Given the description of an element on the screen output the (x, y) to click on. 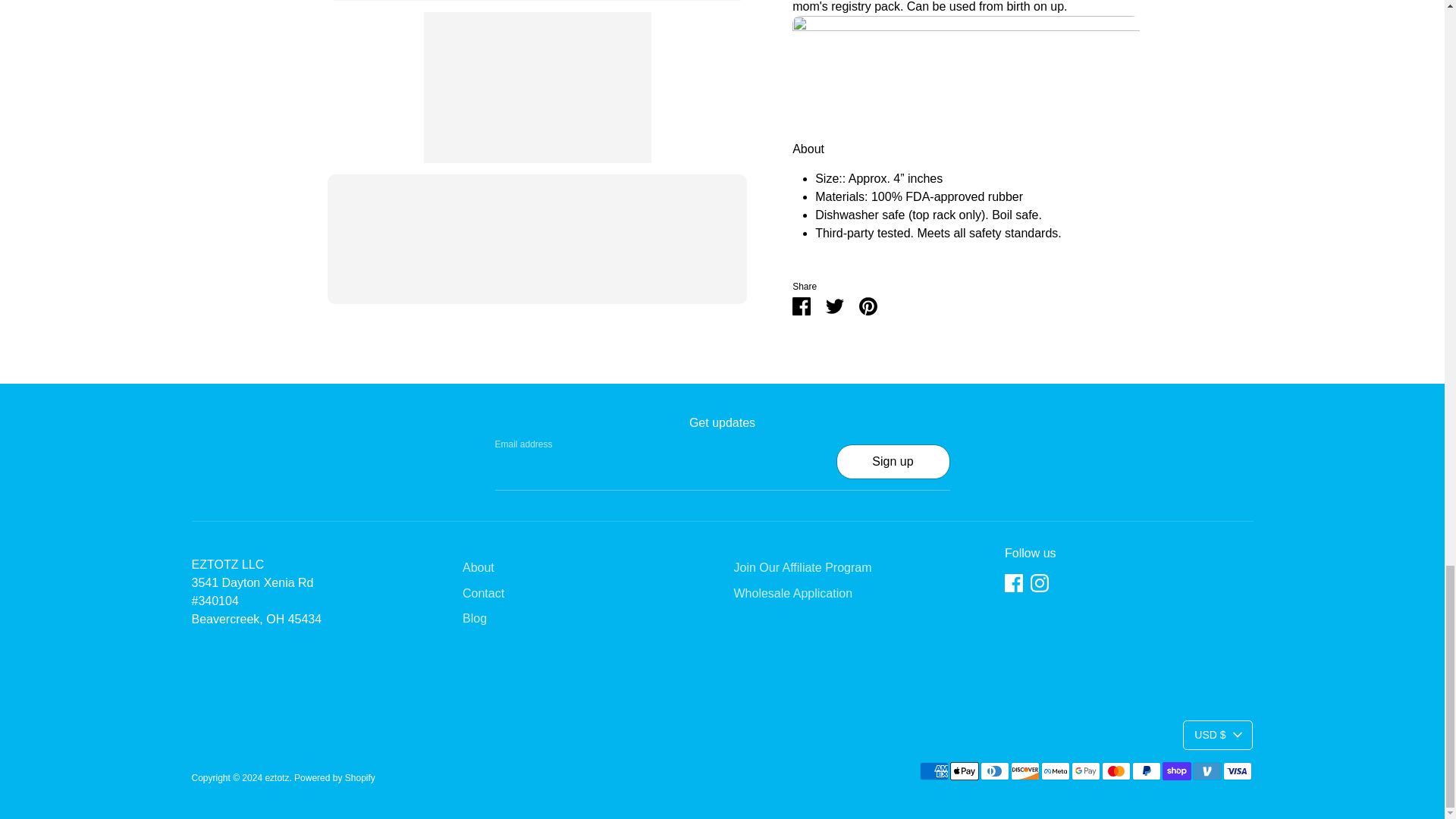
Meta Pay (1054, 771)
American Express (932, 771)
Discover (1024, 771)
Google Pay (1084, 771)
Diners Club (994, 771)
Apple Pay (963, 771)
